Given the description of an element on the screen output the (x, y) to click on. 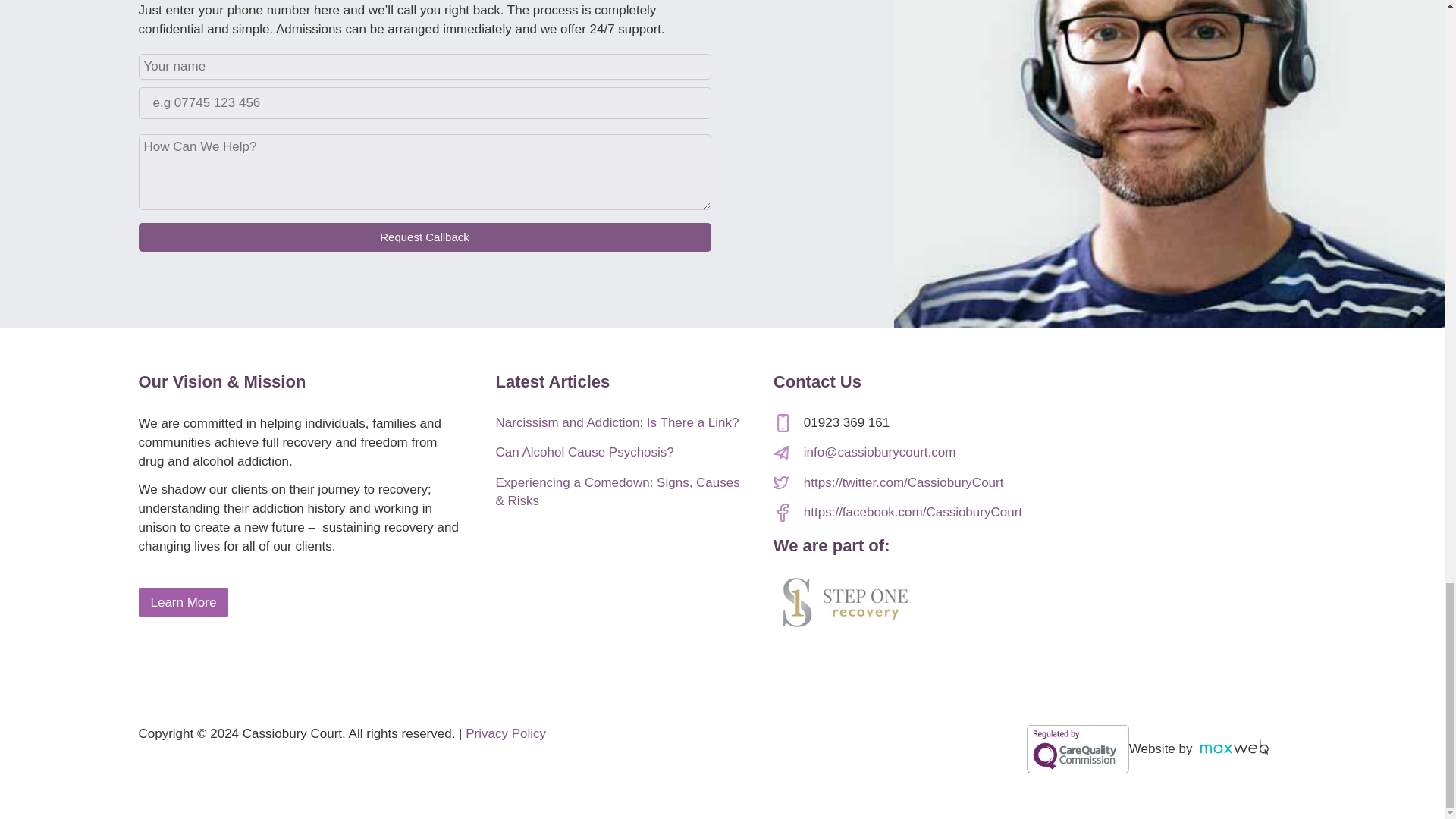
Maxweb Solutions (1249, 749)
Maxweb Solutions (1233, 746)
Request Callback (424, 236)
